Given the description of an element on the screen output the (x, y) to click on. 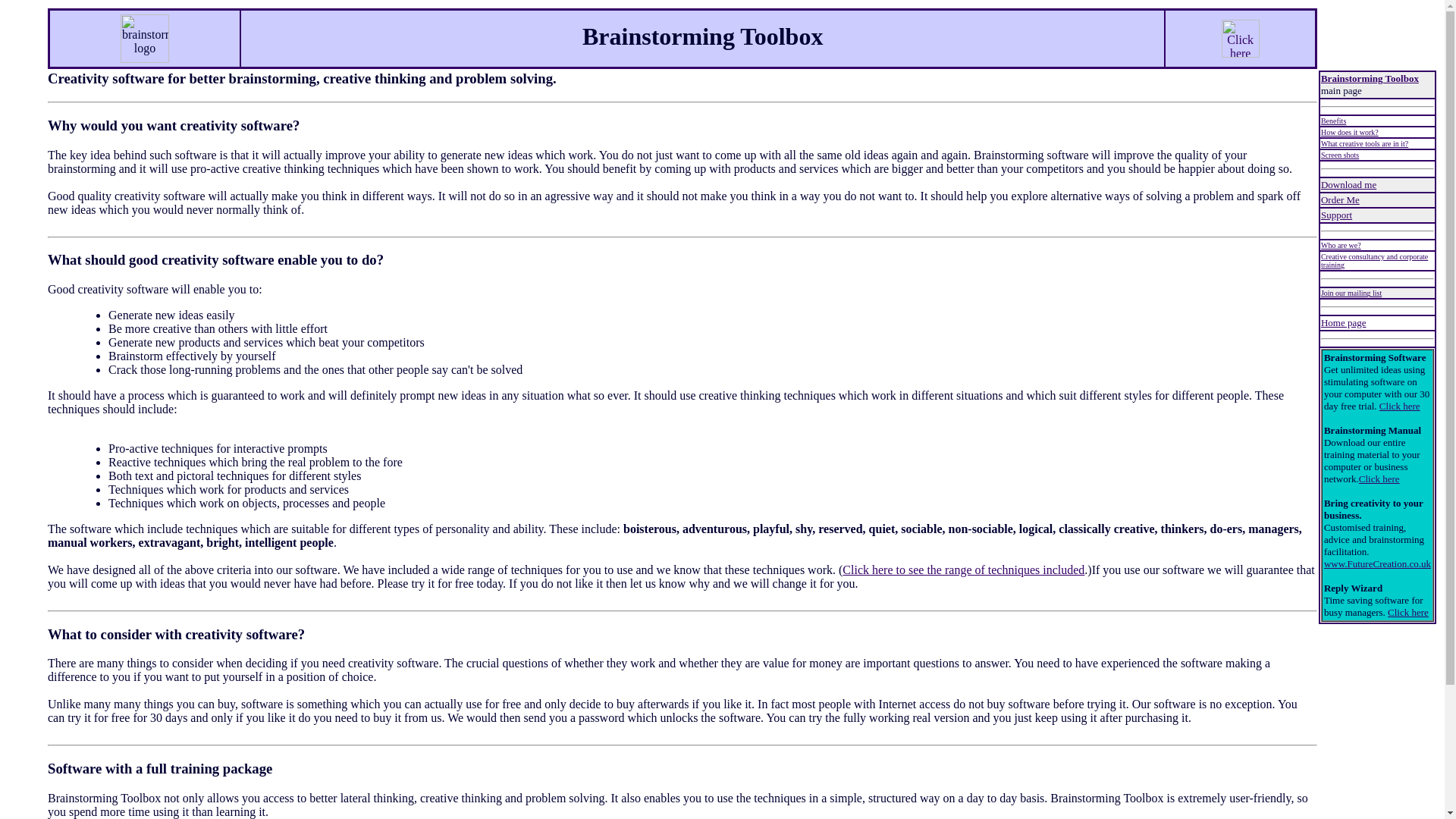
Download me (1347, 183)
Join our mailing list (1350, 293)
Benefits (1332, 121)
Home page (1343, 321)
Click here (1378, 478)
Click here (1407, 612)
Creative consultancy and corporate training (1374, 260)
Brainstorming Toolbox (1369, 78)
What creative tools are in it? (1363, 143)
www.FutureCreation.co.uk (1377, 563)
